Given the description of an element on the screen output the (x, y) to click on. 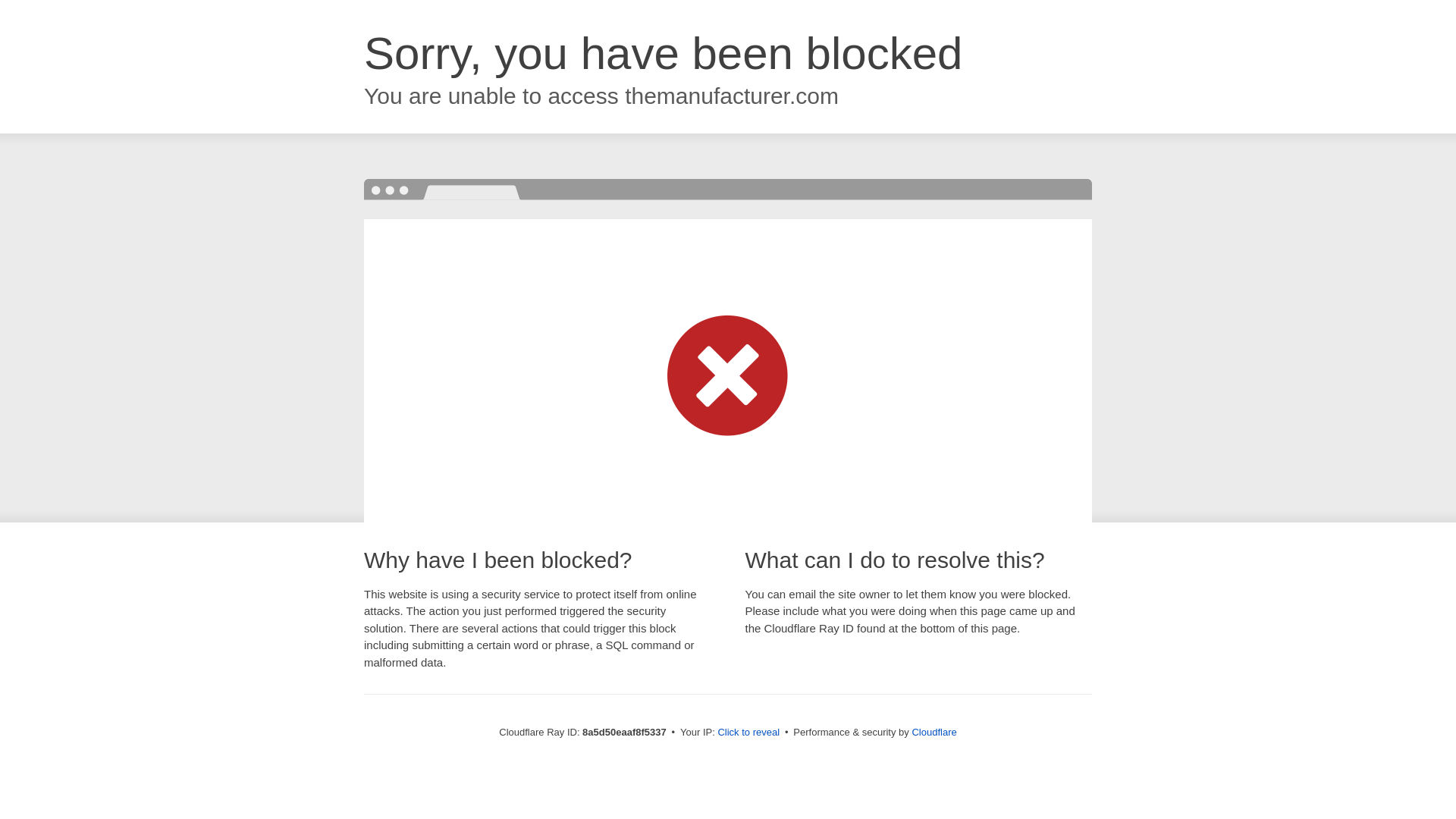
Click to reveal (747, 732)
Cloudflare (933, 731)
